Given the description of an element on the screen output the (x, y) to click on. 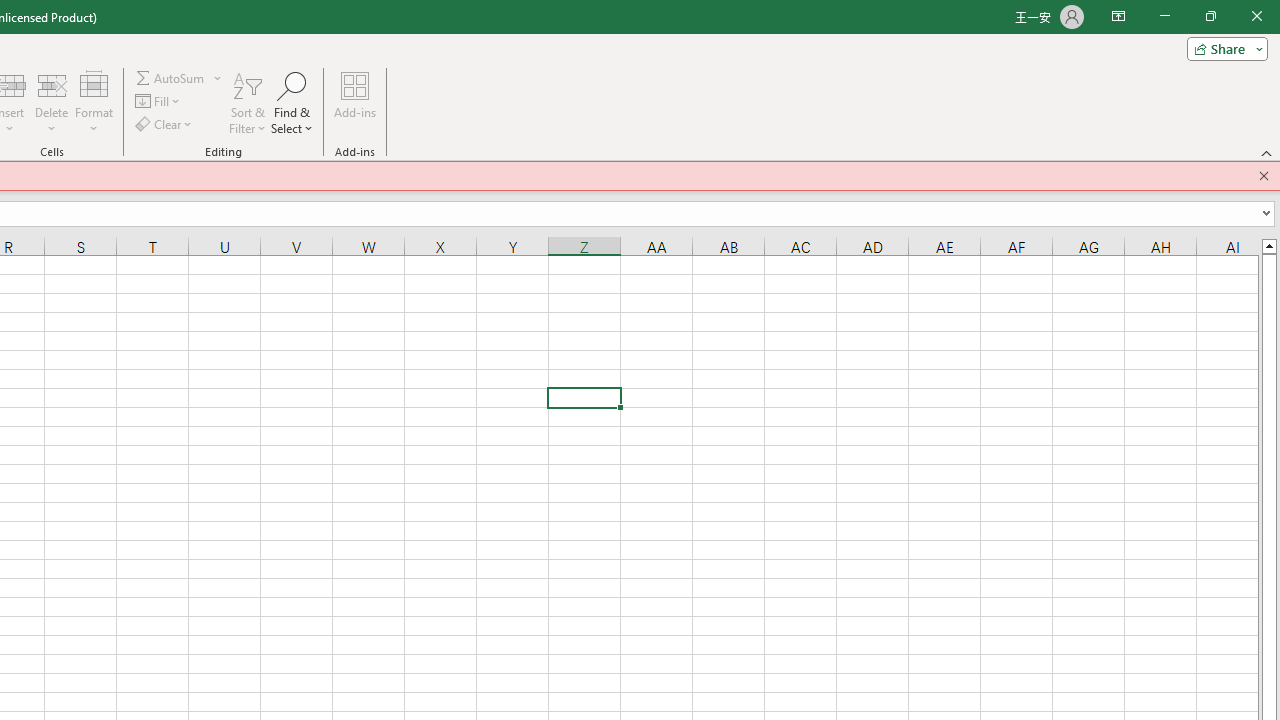
Close this message (1263, 176)
Sum (171, 78)
Find & Select (292, 102)
Format (94, 102)
Sort & Filter (247, 102)
Fill (158, 101)
AutoSum (178, 78)
